Given the description of an element on the screen output the (x, y) to click on. 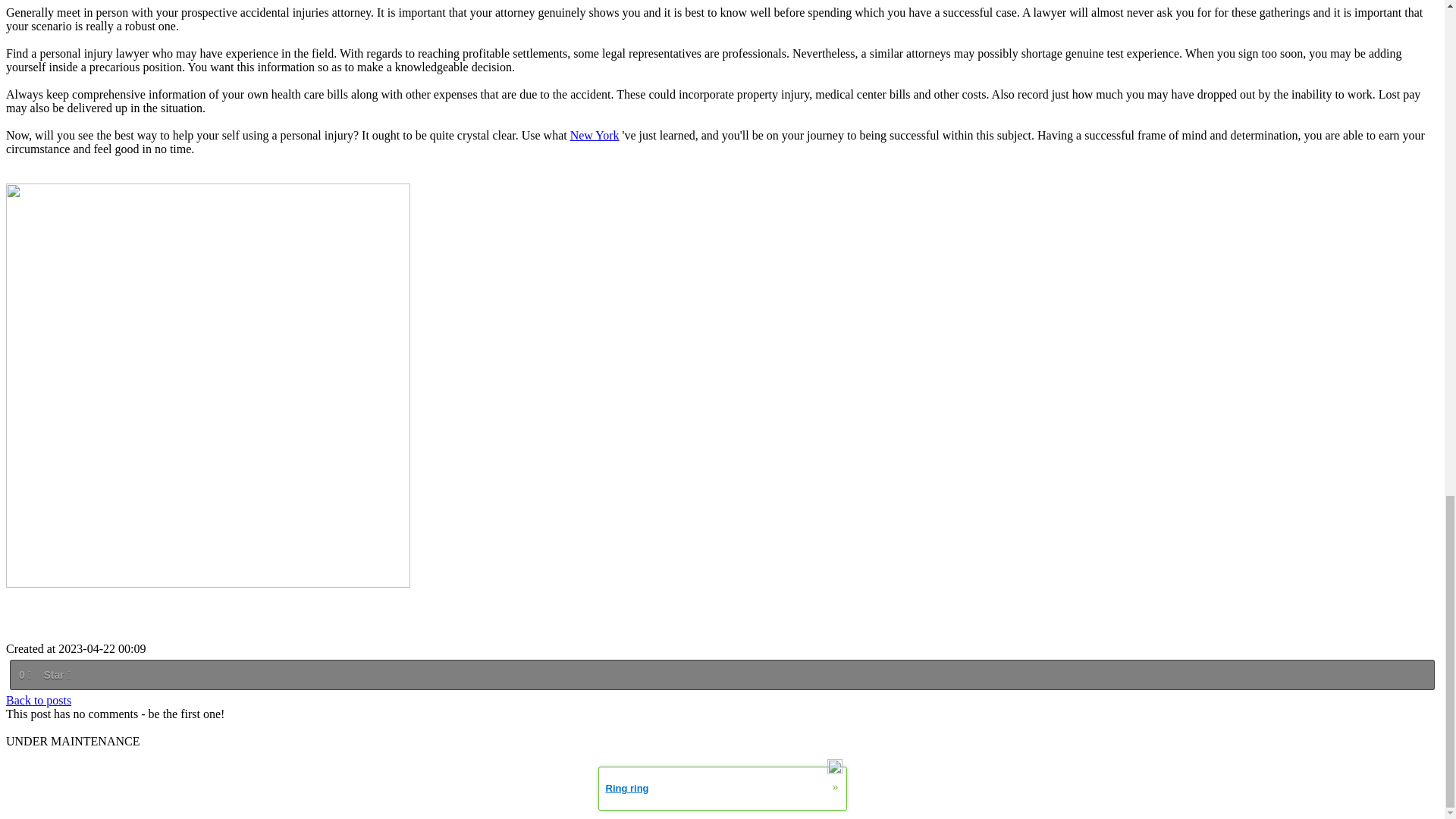
Star (56, 674)
0 (24, 674)
New York (595, 134)
Back to posts (38, 699)
